Given the description of an element on the screen output the (x, y) to click on. 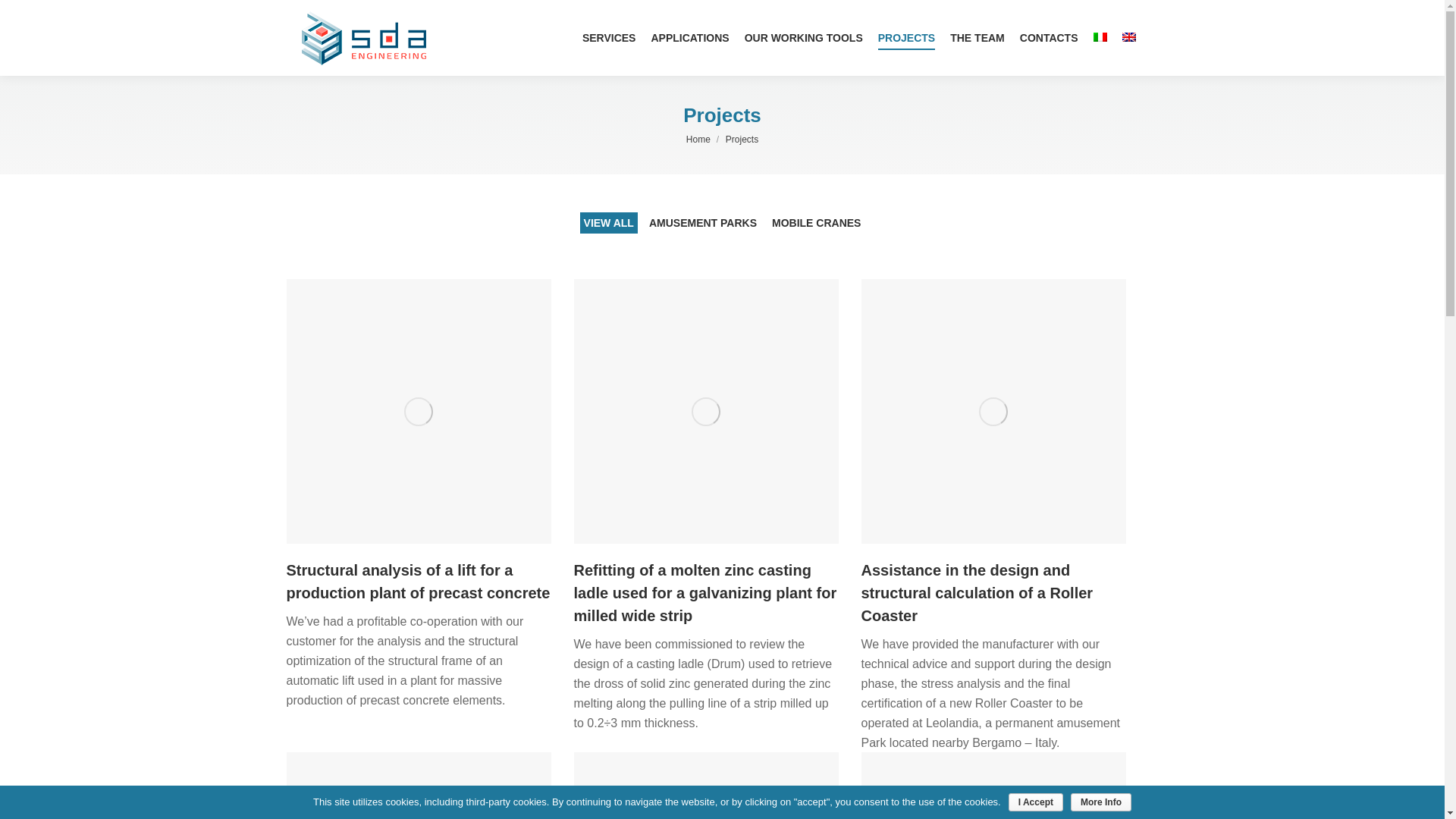
SERVICES (609, 38)
THE TEAM (976, 38)
APPLICATIONS (689, 38)
Italiano (1099, 36)
roller-coaster-sda-eng (993, 411)
